Given the description of an element on the screen output the (x, y) to click on. 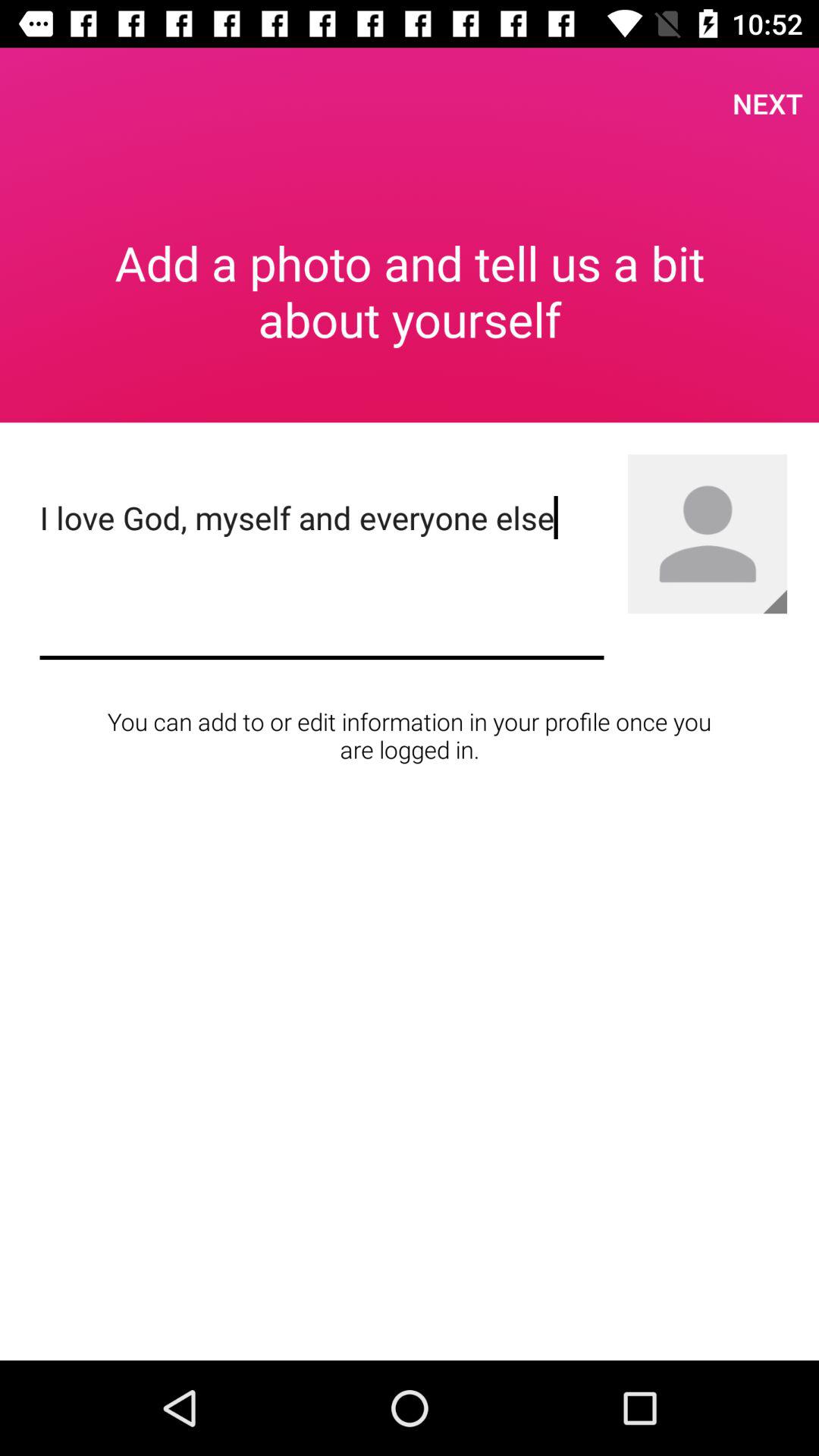
profile picture (707, 533)
